Given the description of an element on the screen output the (x, y) to click on. 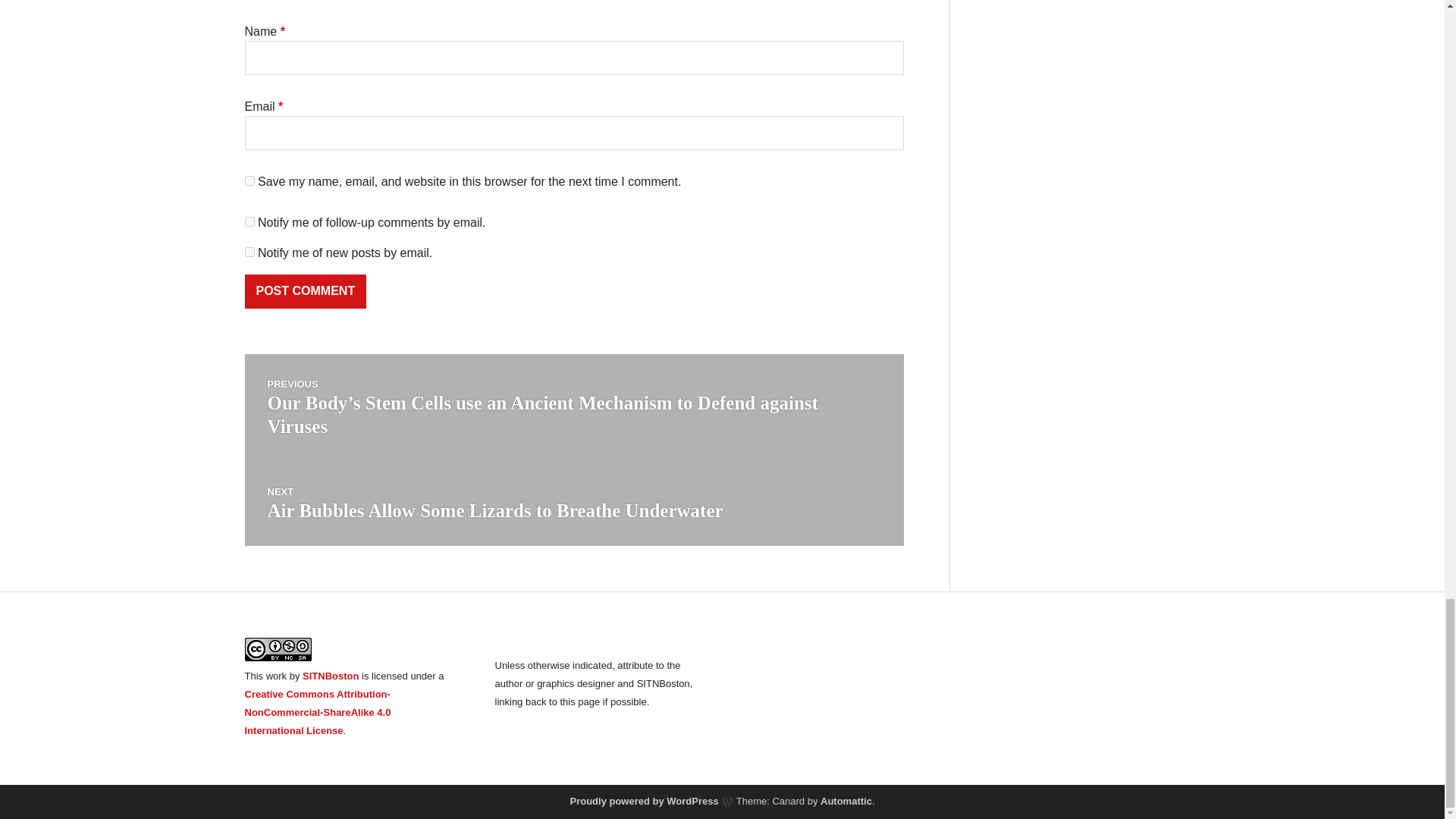
subscribe (248, 252)
subscribe (248, 221)
Post Comment (305, 291)
yes (248, 180)
